Given the description of an element on the screen output the (x, y) to click on. 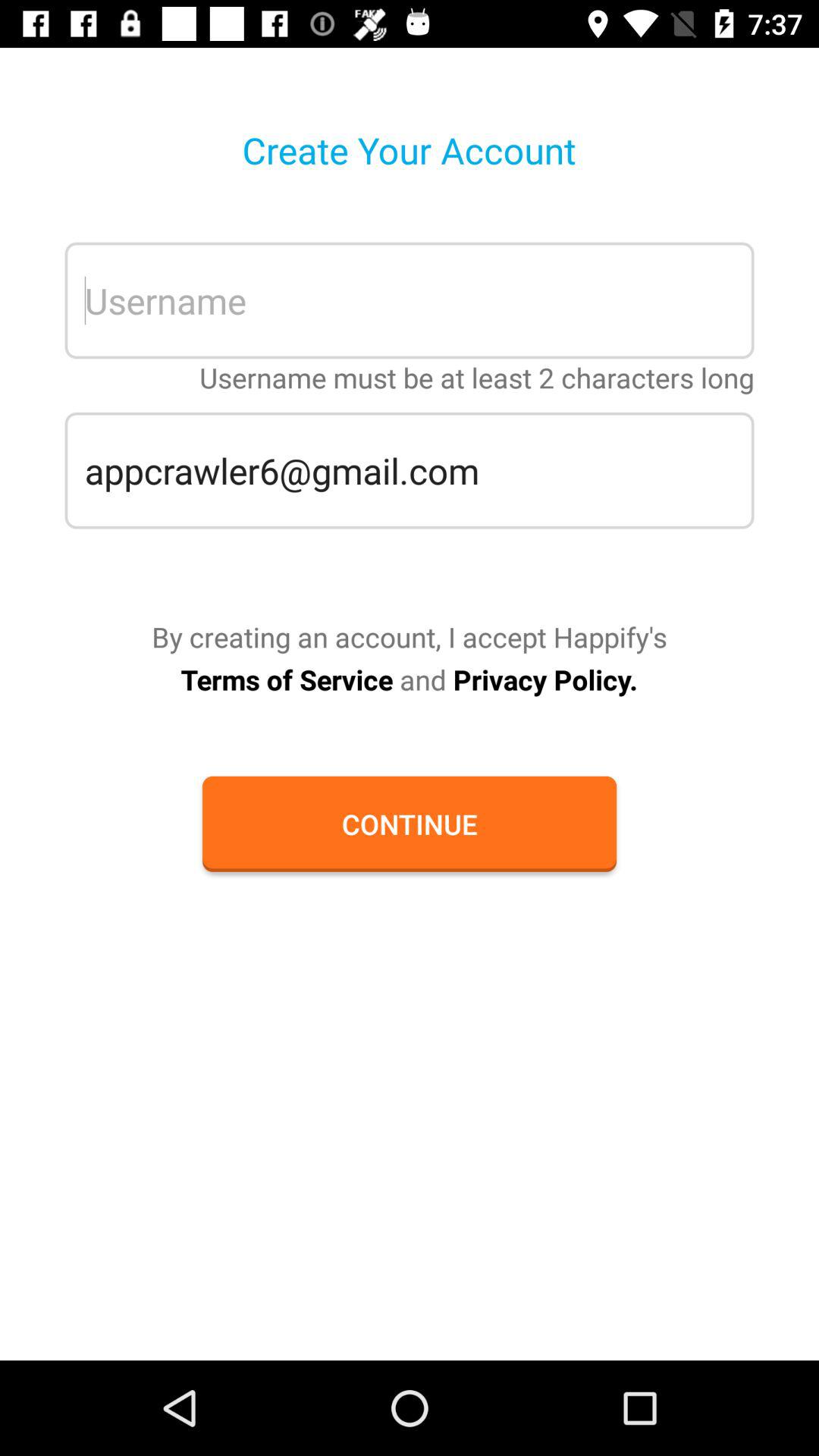
launch the terms of service item (408, 679)
